Given the description of an element on the screen output the (x, y) to click on. 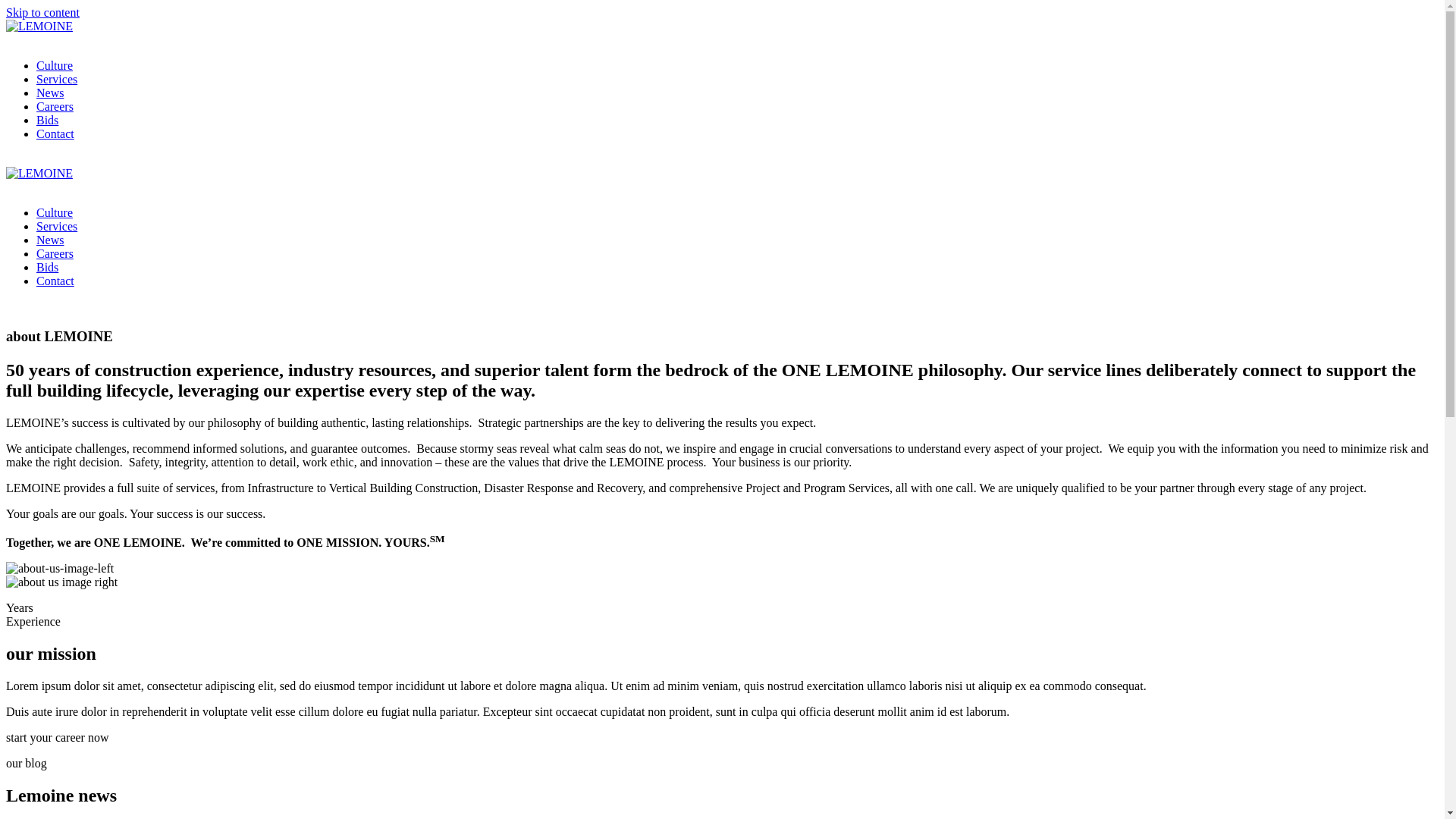
Services Element type: text (737, 79)
Contact Element type: text (737, 134)
Skip to content Element type: text (42, 12)
About Us 2 Element type: hover (61, 582)
Careers Element type: text (737, 106)
Careers Element type: text (737, 253)
Contact Element type: text (737, 281)
News Element type: text (737, 240)
Culture Element type: text (737, 65)
Services Element type: text (737, 226)
Culture Element type: text (737, 212)
News Element type: text (737, 93)
Bids Element type: text (737, 267)
Bids Element type: text (737, 120)
About Us 1 Element type: hover (59, 568)
